Given the description of an element on the screen output the (x, y) to click on. 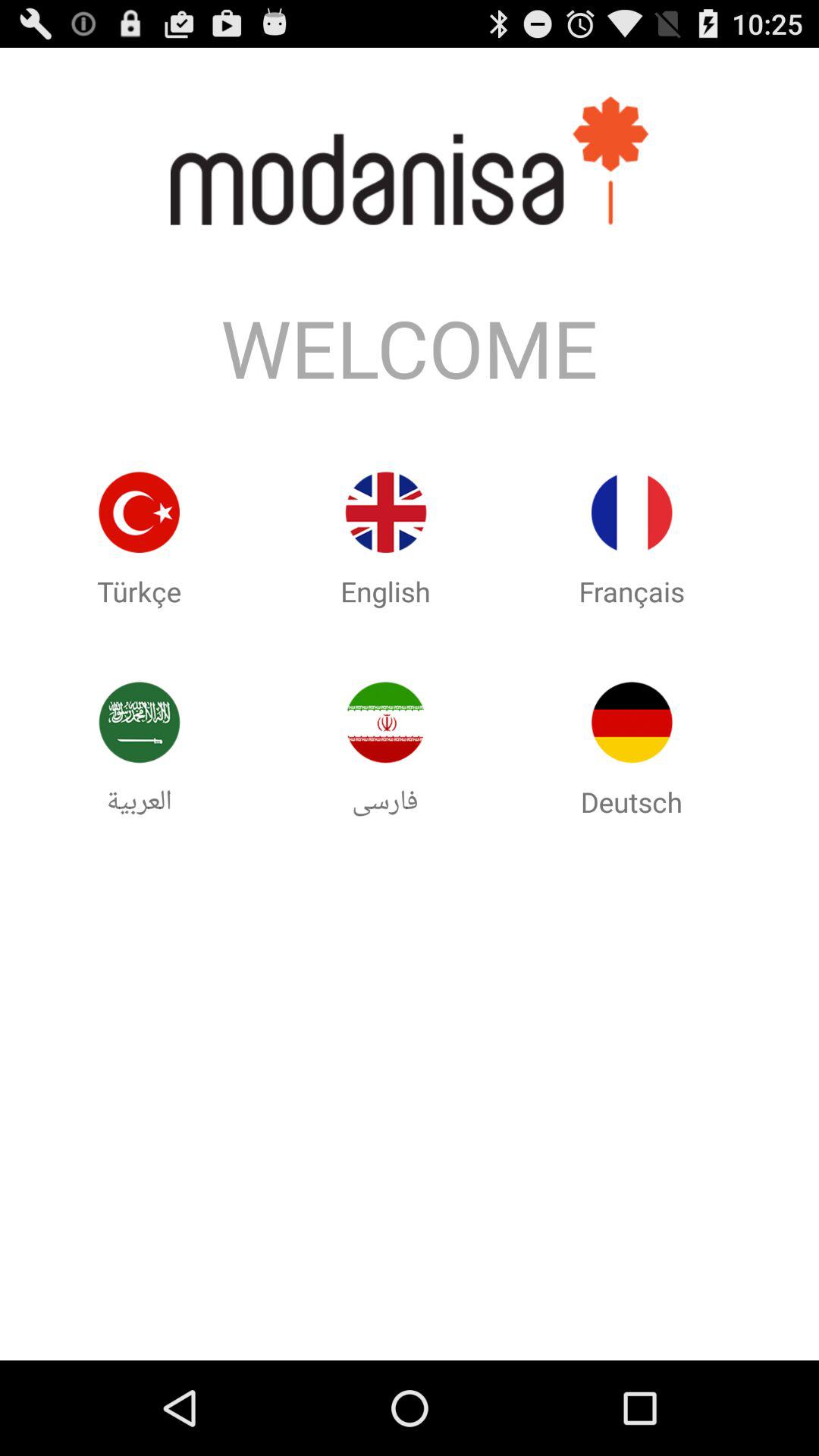
go to english (385, 512)
